Given the description of an element on the screen output the (x, y) to click on. 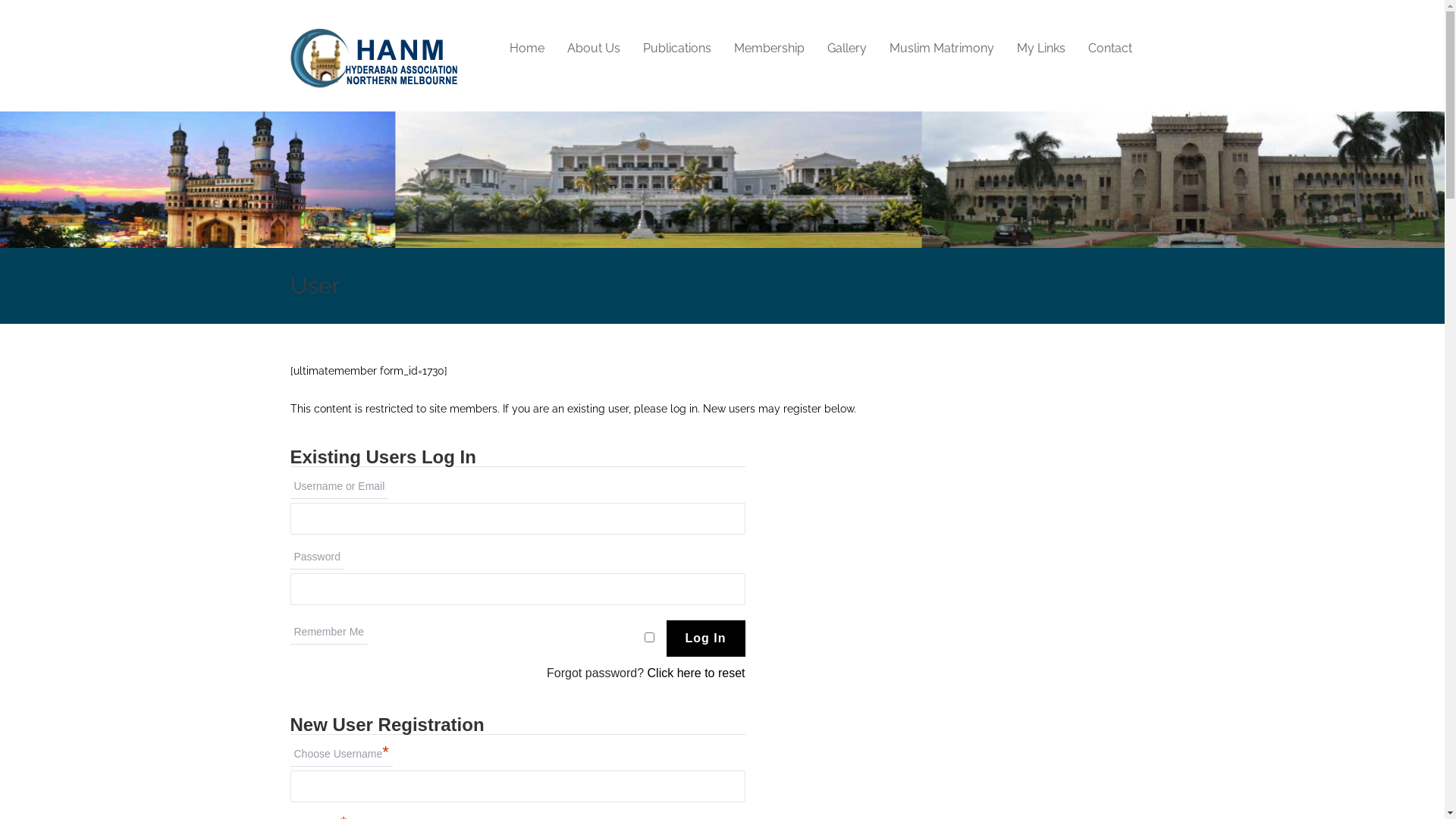
Gallery Element type: text (846, 48)
Log In Element type: text (705, 638)
Contact Element type: text (1109, 48)
Publications Element type: text (675, 48)
Muslim Matrimony Element type: text (941, 48)
Home Element type: text (526, 48)
Click here to reset Element type: text (696, 672)
Search Element type: text (4, 4)
About Us Element type: text (592, 48)
My Links Element type: text (1040, 48)
Membership Element type: text (768, 48)
